Given the description of an element on the screen output the (x, y) to click on. 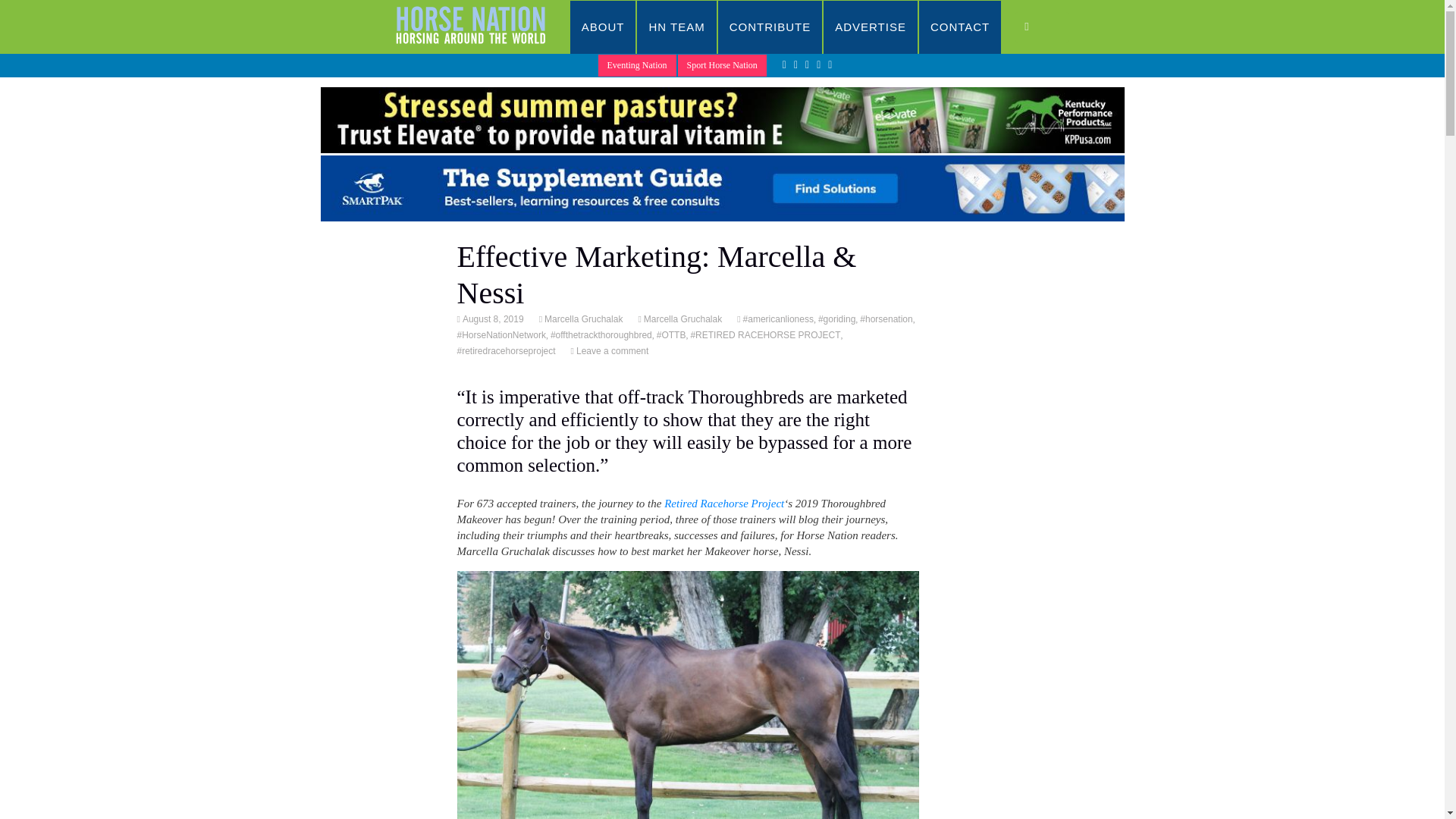
SEARCH (1041, 27)
HN TEAM (676, 27)
August 8, 2019 (492, 318)
CONTACT (959, 27)
Marcella Gruchalak (682, 318)
ABOUT (603, 27)
Sport Horse Nation (722, 65)
ADVERTISE (870, 27)
CONTRIBUTE (769, 27)
Leave a comment (610, 350)
